Given the description of an element on the screen output the (x, y) to click on. 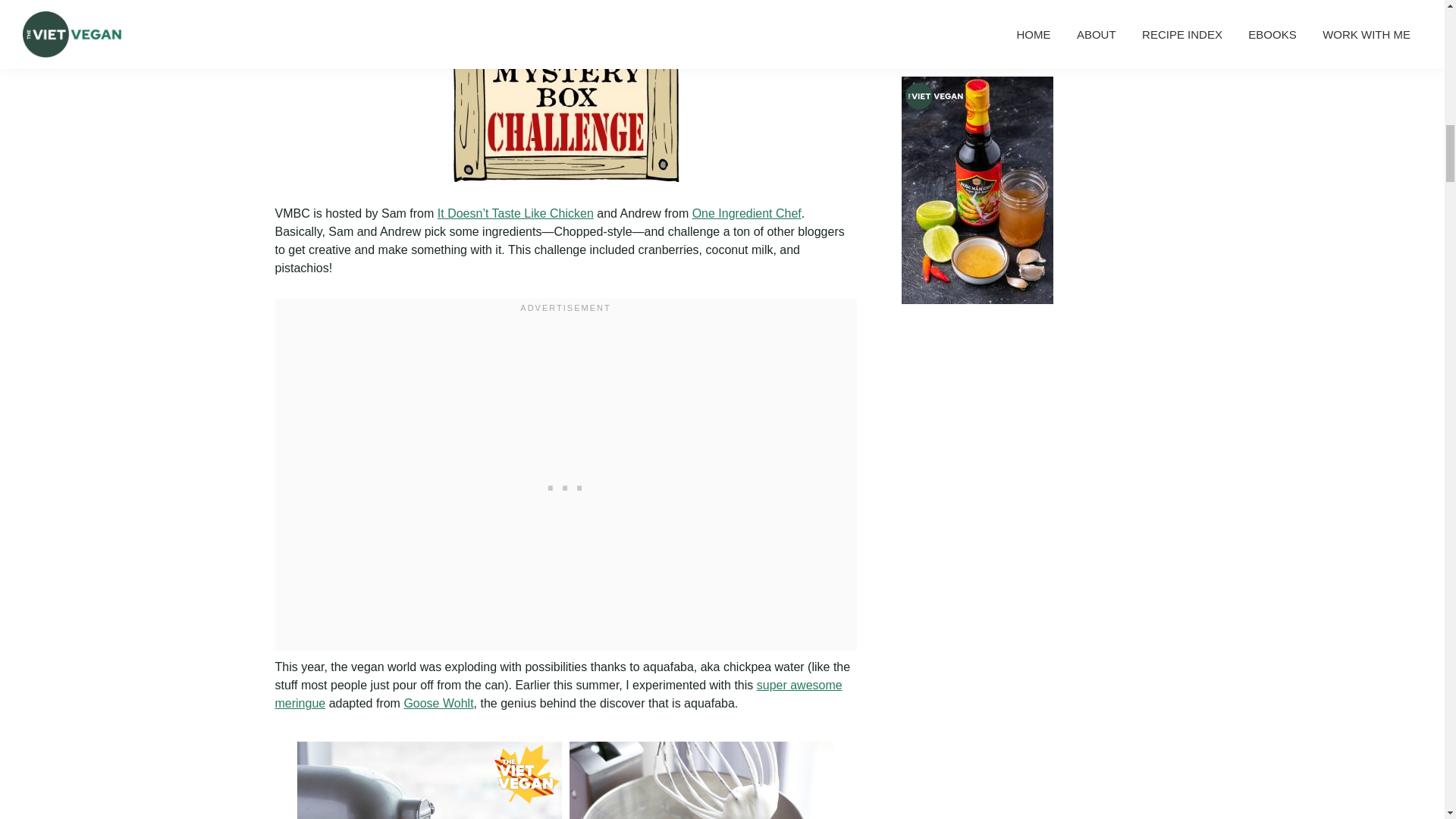
Goose Wohlt (438, 703)
super awesome meringue (558, 694)
One Ingredient Chef (747, 213)
